Given the description of an element on the screen output the (x, y) to click on. 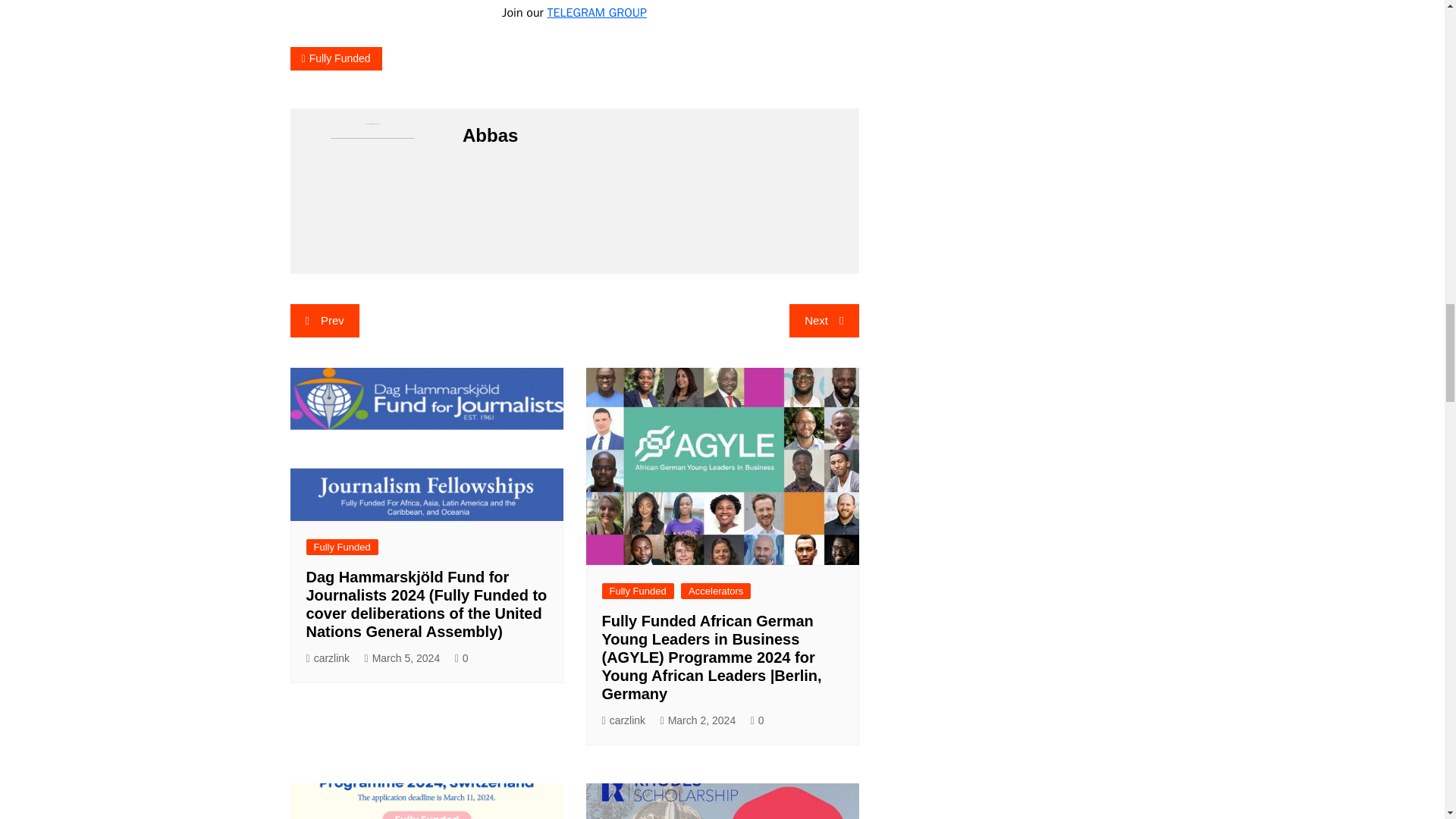
TELEGRAM GROUP (596, 12)
Prev (323, 320)
Fully Funded (335, 58)
